Given the description of an element on the screen output the (x, y) to click on. 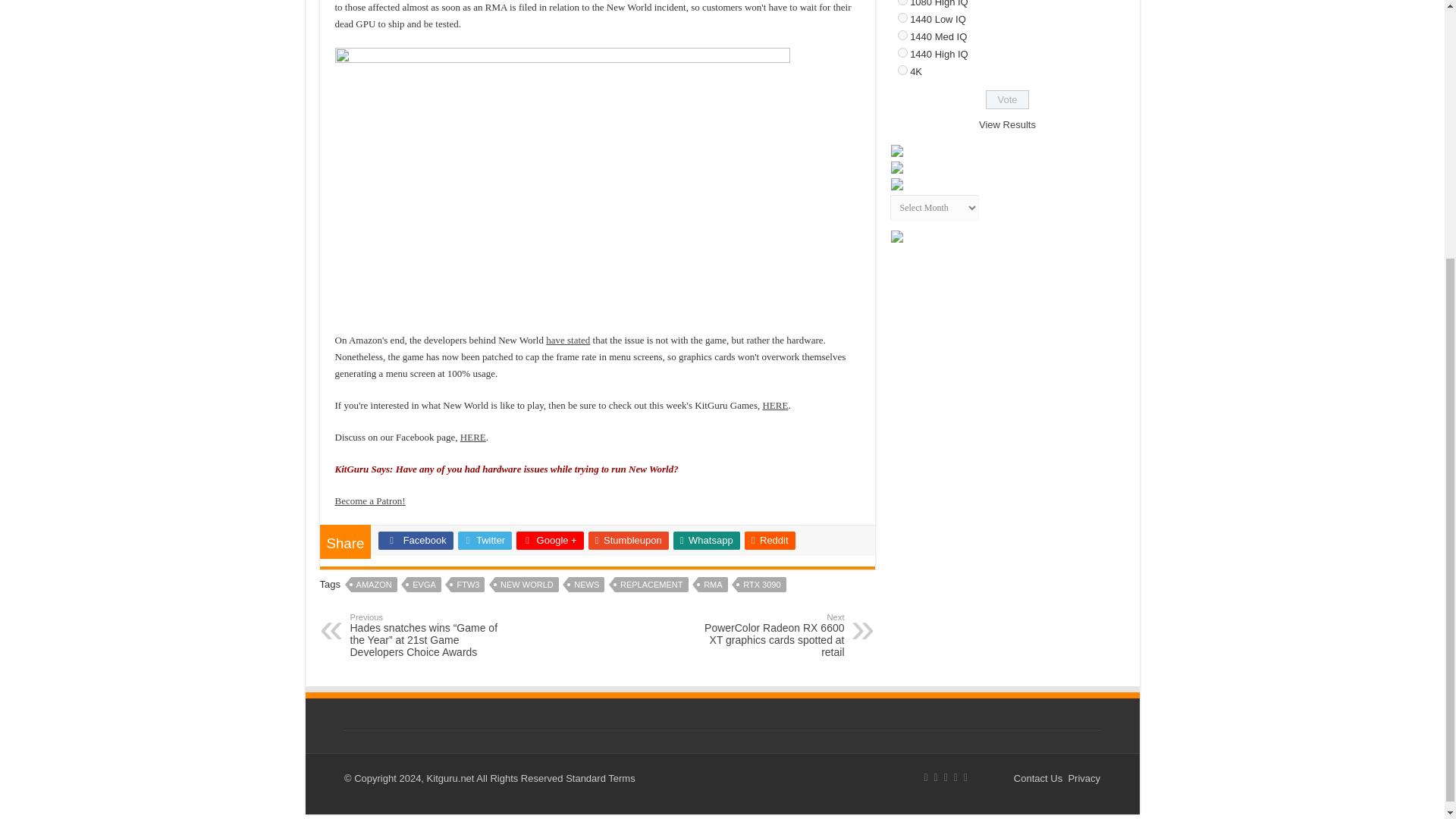
have stated (567, 339)
1381 (902, 2)
1383 (902, 35)
Twitter (485, 540)
1384 (902, 52)
View Results Of This Poll (1006, 124)
HERE (774, 405)
   Vote    (1007, 99)
1385 (902, 70)
Become a Patron! (370, 500)
